Given the description of an element on the screen output the (x, y) to click on. 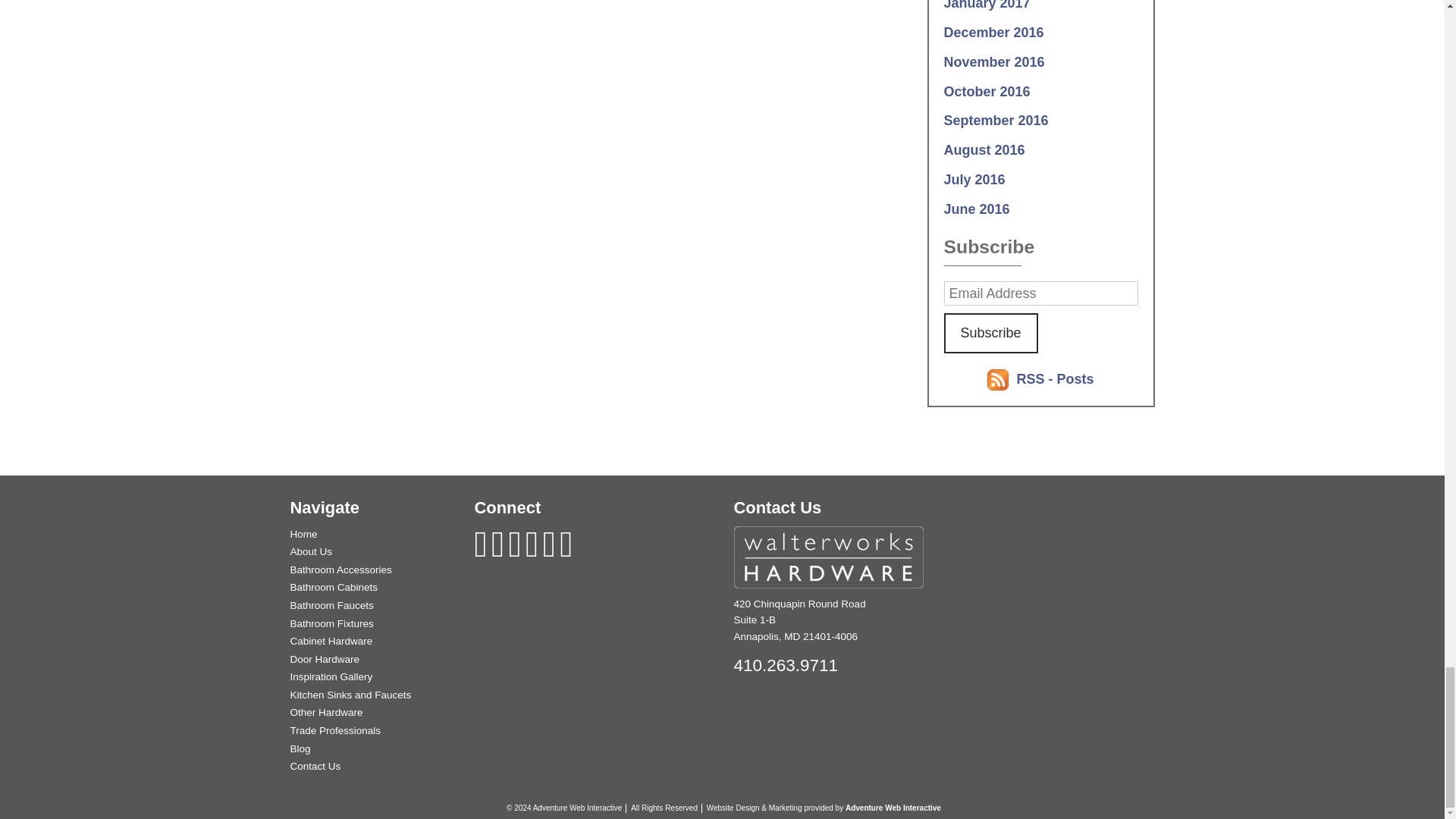
Subscribe (989, 332)
Subscribe to Posts (999, 378)
Subscribe to Posts (1054, 378)
WalterWorks Hardware (828, 557)
